Given the description of an element on the screen output the (x, y) to click on. 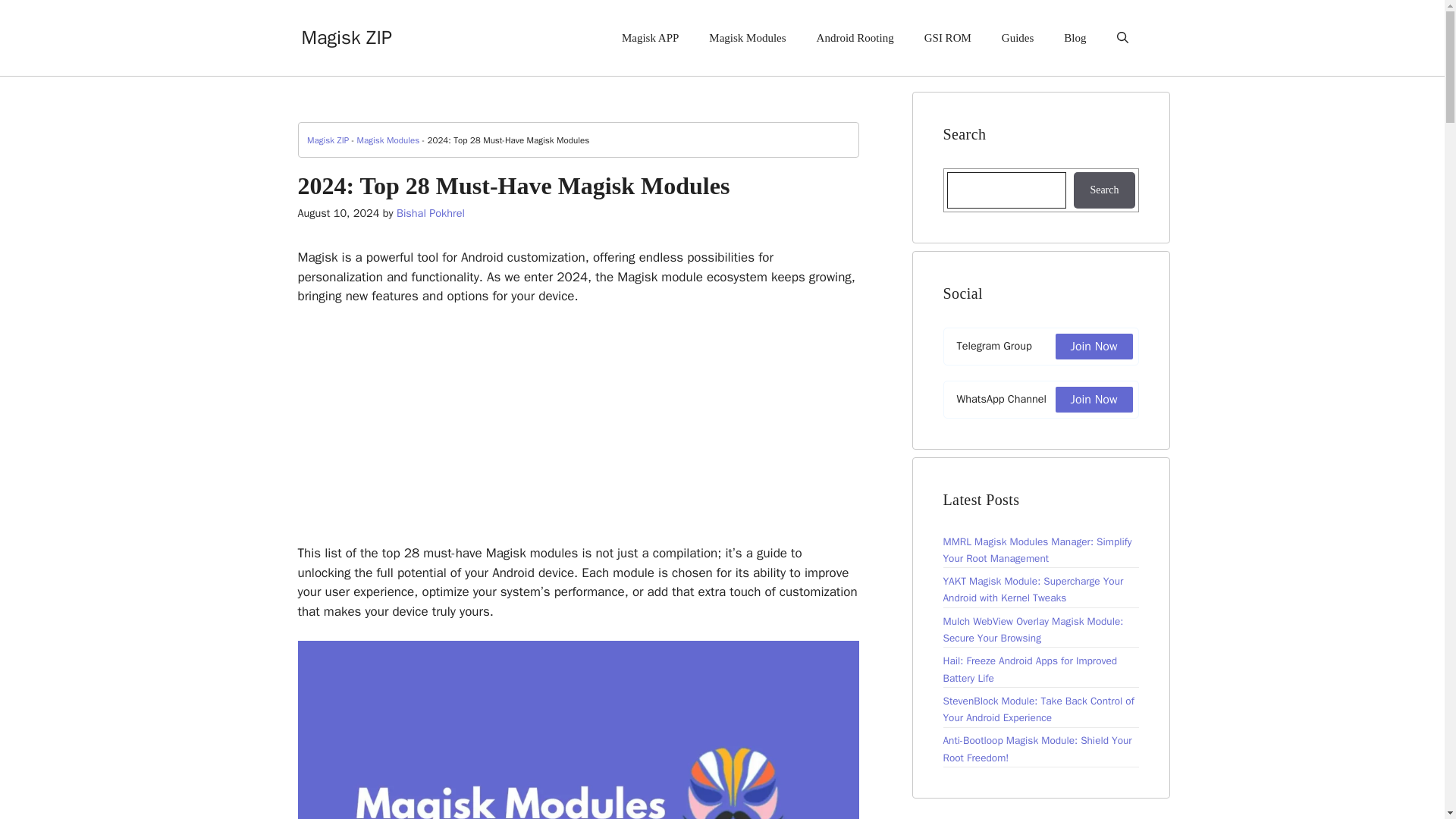
Bishal Pokhrel (430, 213)
2024: Top 28 Must-Have Magisk Modules 1 (578, 729)
Magisk APP (650, 37)
Advertisement (577, 431)
View all posts by Bishal Pokhrel (430, 213)
Magisk Modules (747, 37)
Magisk Modules (388, 140)
GSI ROM (947, 37)
Guides (1018, 37)
Magisk ZIP (346, 37)
